Given the description of an element on the screen output the (x, y) to click on. 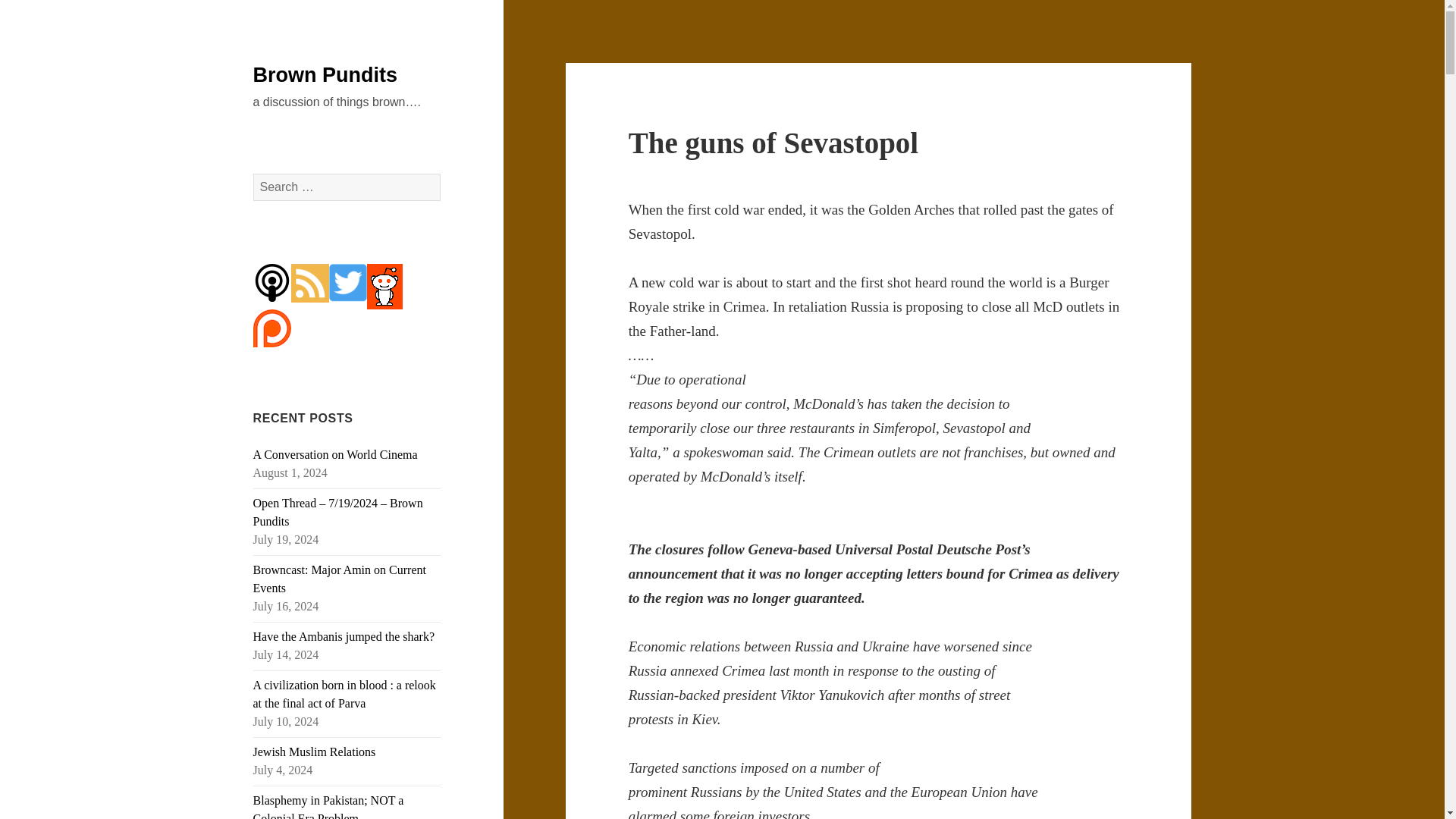
Jewish Muslim Relations (314, 751)
A Conversation on World Cinema (335, 454)
Brown Pundits (325, 74)
Blasphemy in Pakistan; NOT a Colonial Era Problem (328, 806)
Browncast: Major Amin on Current Events (339, 578)
Have the Ambanis jumped the shark? (344, 635)
